Given the description of an element on the screen output the (x, y) to click on. 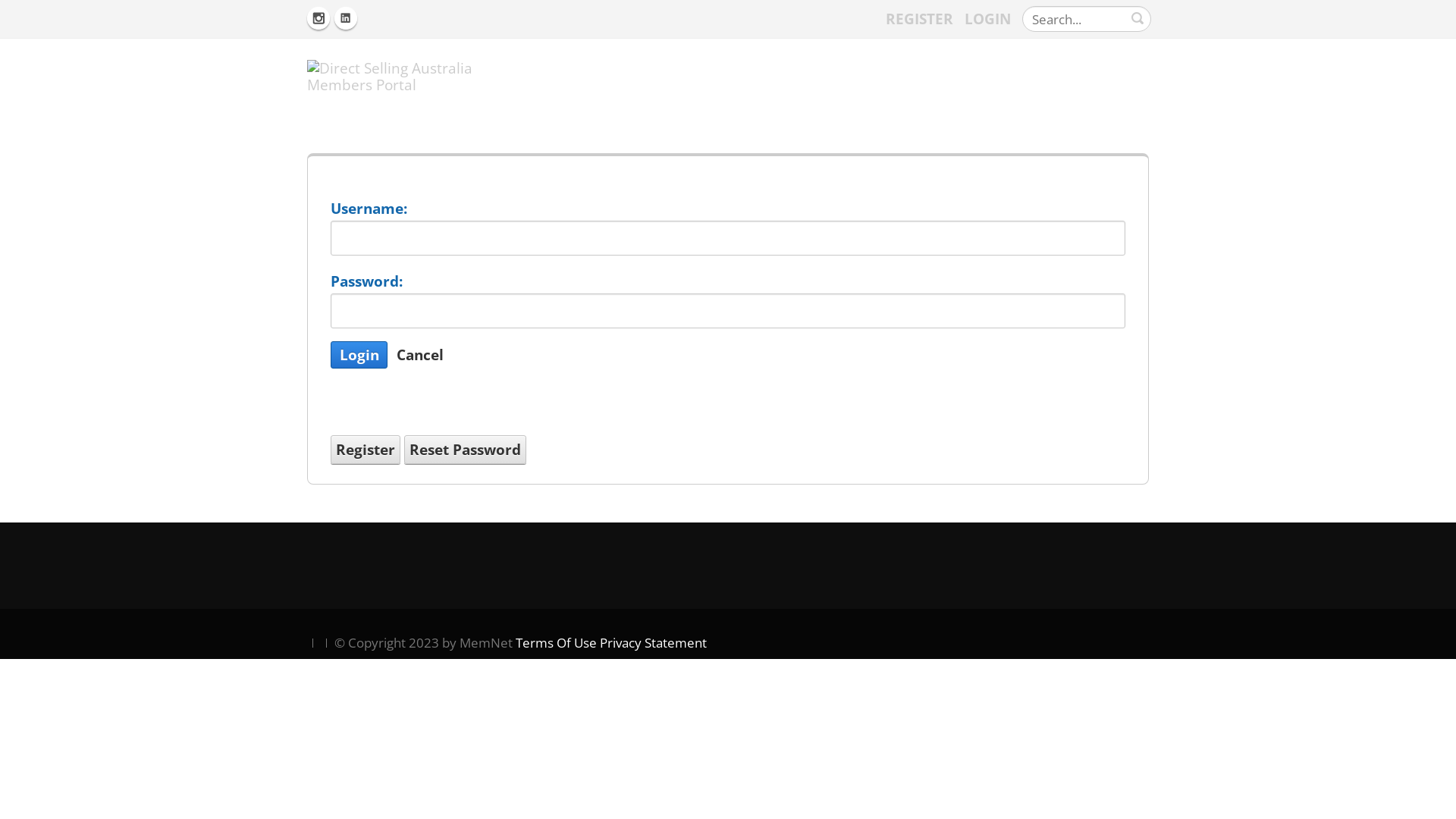
REGISTER Element type: text (919, 17)
Linkedin Icon Element type: text (345, 17)
HOME Element type: text (1124, 76)
Clear search text Element type: hover (1137, 17)
Instagram Icon Element type: text (318, 17)
Terms Of Use Element type: text (555, 642)
Privacy Statement Element type: text (652, 642)
Login Element type: text (358, 354)
Reset Password Element type: text (465, 449)
Register Element type: text (365, 449)
LOGIN Element type: text (987, 18)
  Element type: text (1136, 18)
Cancel Element type: text (419, 354)
Direct Selling Australia Members Portal Element type: hover (413, 74)
